Given the description of an element on the screen output the (x, y) to click on. 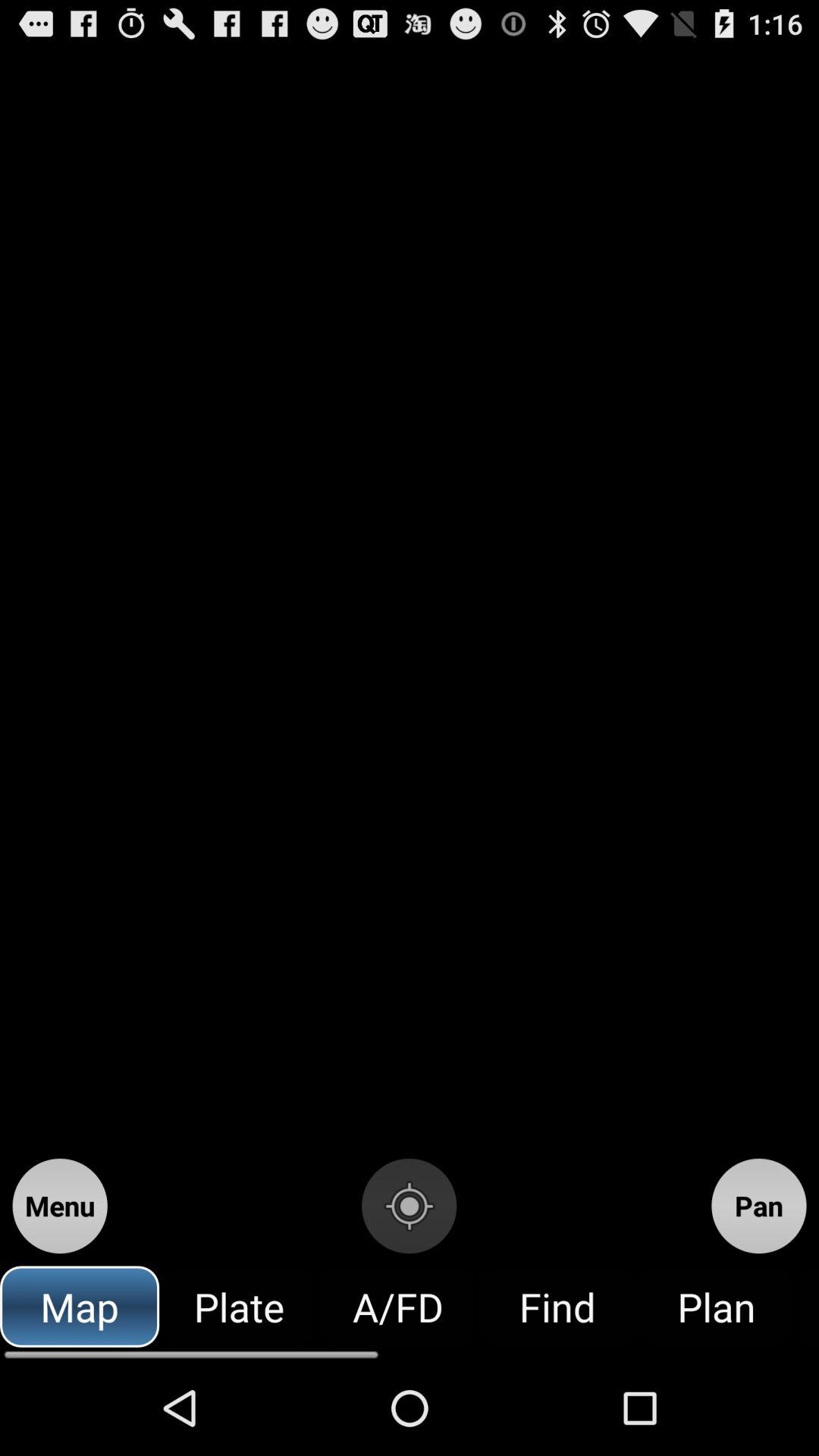
click location (408, 1205)
